Given the description of an element on the screen output the (x, y) to click on. 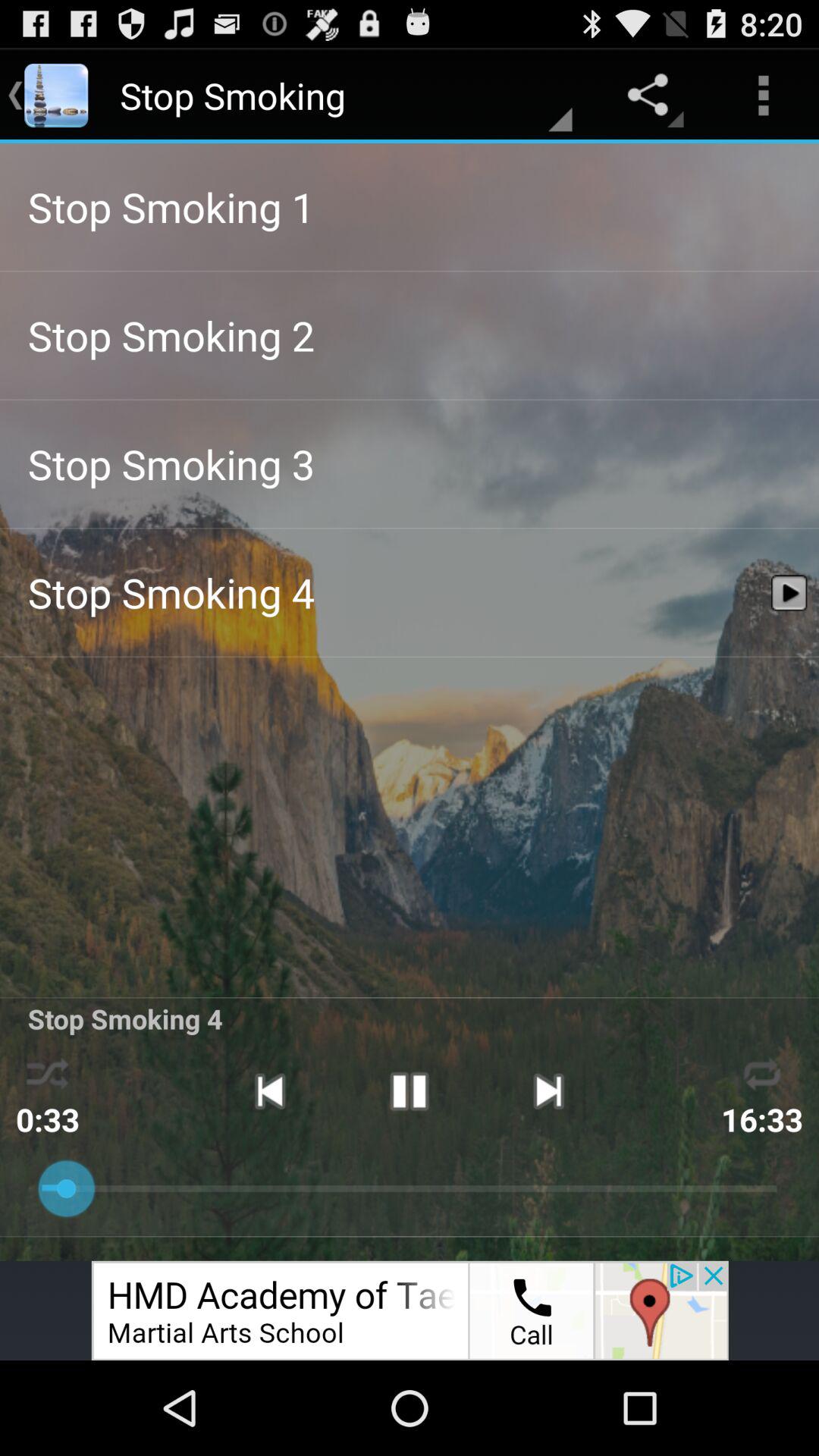
select advertisement (409, 1310)
